Given the description of an element on the screen output the (x, y) to click on. 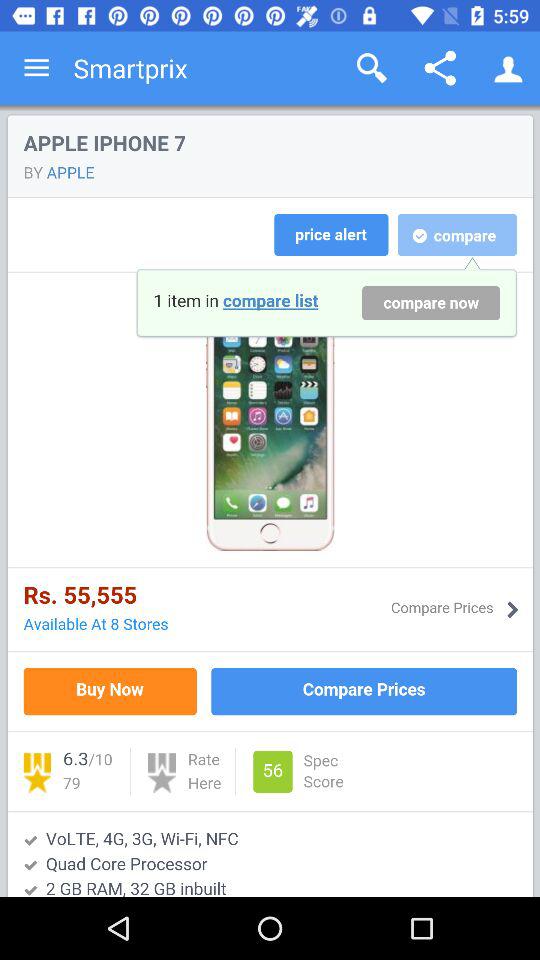
advertisement page (270, 501)
